Given the description of an element on the screen output the (x, y) to click on. 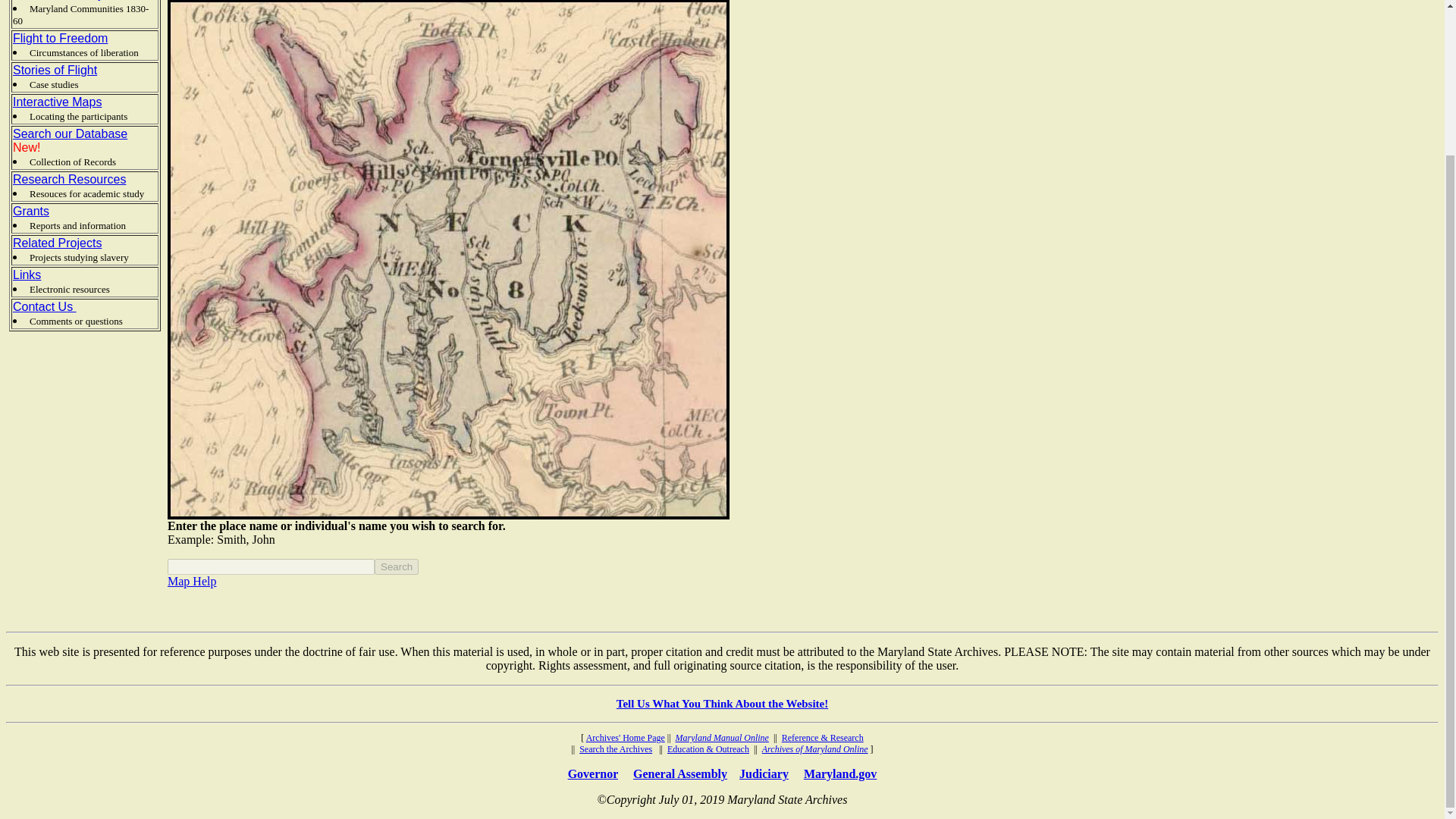
Governor (592, 773)
Contact Us  (45, 306)
Research Resources (69, 178)
Judiciary (764, 773)
Related Projects (57, 242)
Archives' Home Page (625, 737)
Maryland Manual Online (721, 737)
Links (26, 274)
Search (396, 566)
Search the Archives (615, 748)
Search (396, 566)
Maryland.gov (839, 773)
Search our Database (70, 133)
Map Help (191, 581)
Tell Us What You Think About the Website! (721, 703)
